Given the description of an element on the screen output the (x, y) to click on. 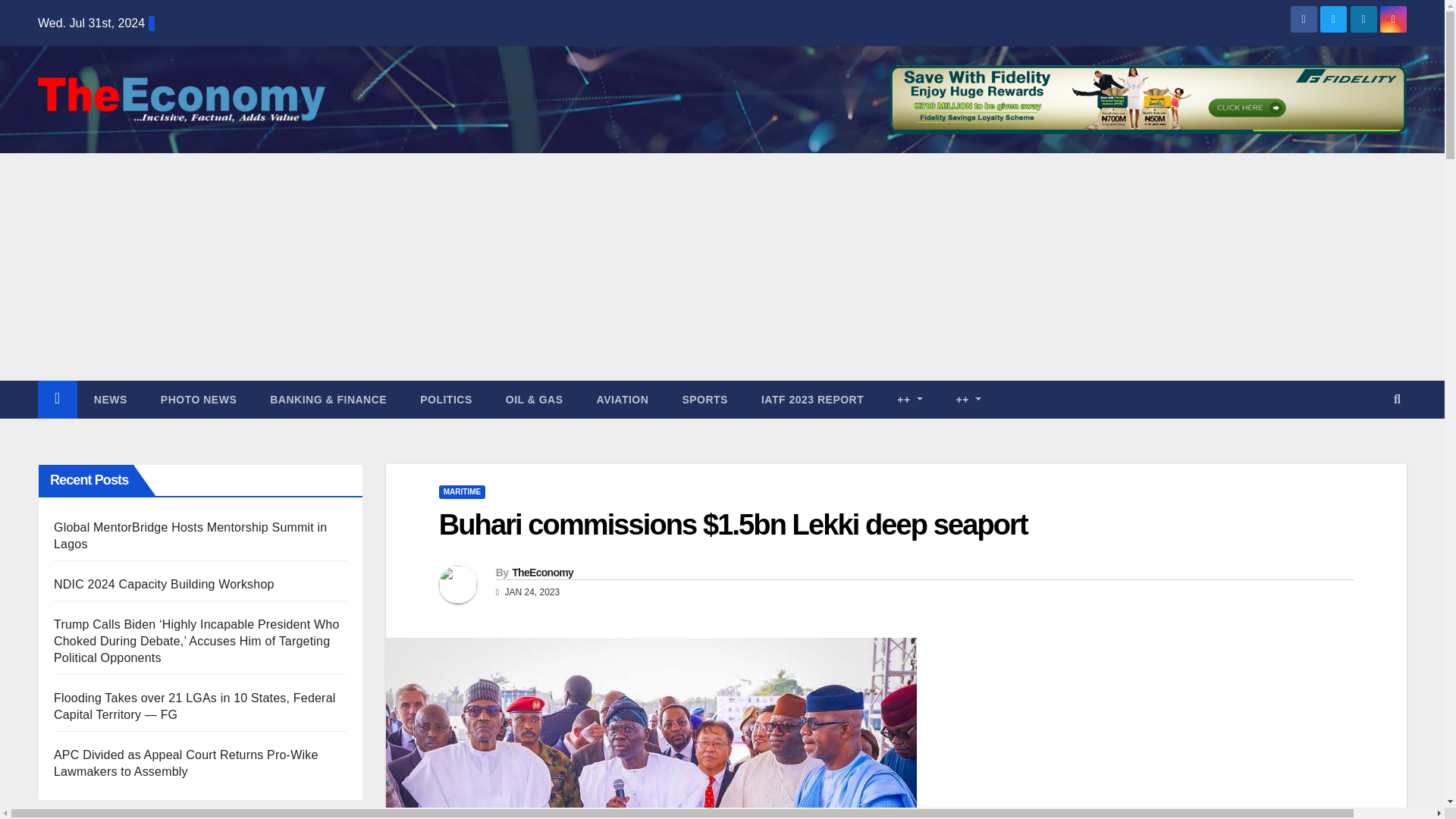
Sports (704, 399)
SPORTS (704, 399)
Politics (446, 399)
PHOTO NEWS (198, 399)
IATF 2023 REPORT (812, 399)
NEWS (110, 399)
IATF 2023 REPORT (812, 399)
POLITICS (446, 399)
Aviation (622, 399)
News (110, 399)
AVIATION (622, 399)
Photo News (198, 399)
